Given the description of an element on the screen output the (x, y) to click on. 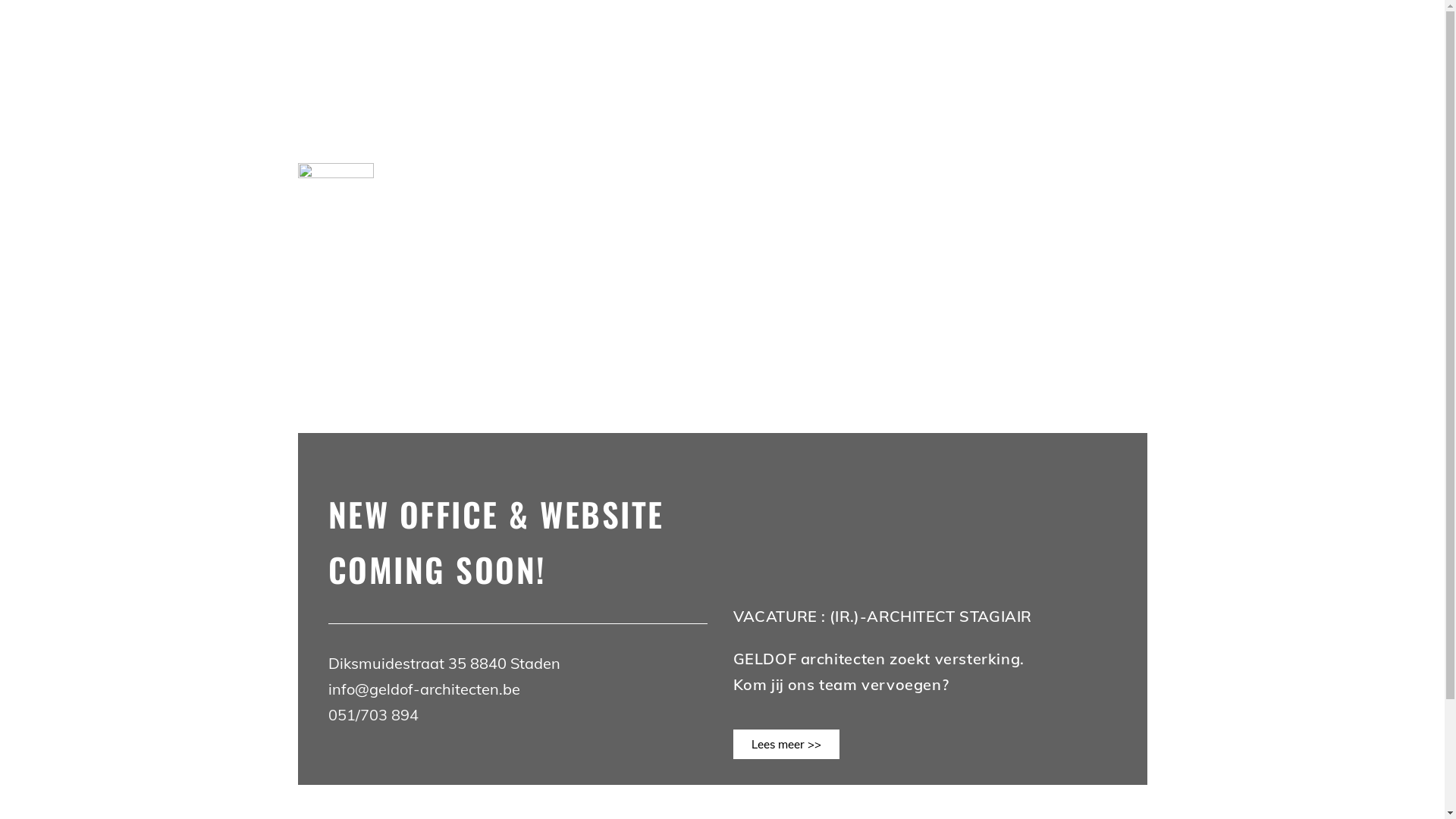
info@geldof-architecten.be  Element type: text (425, 688)
Lees meer >> Element type: text (785, 744)
